Given the description of an element on the screen output the (x, y) to click on. 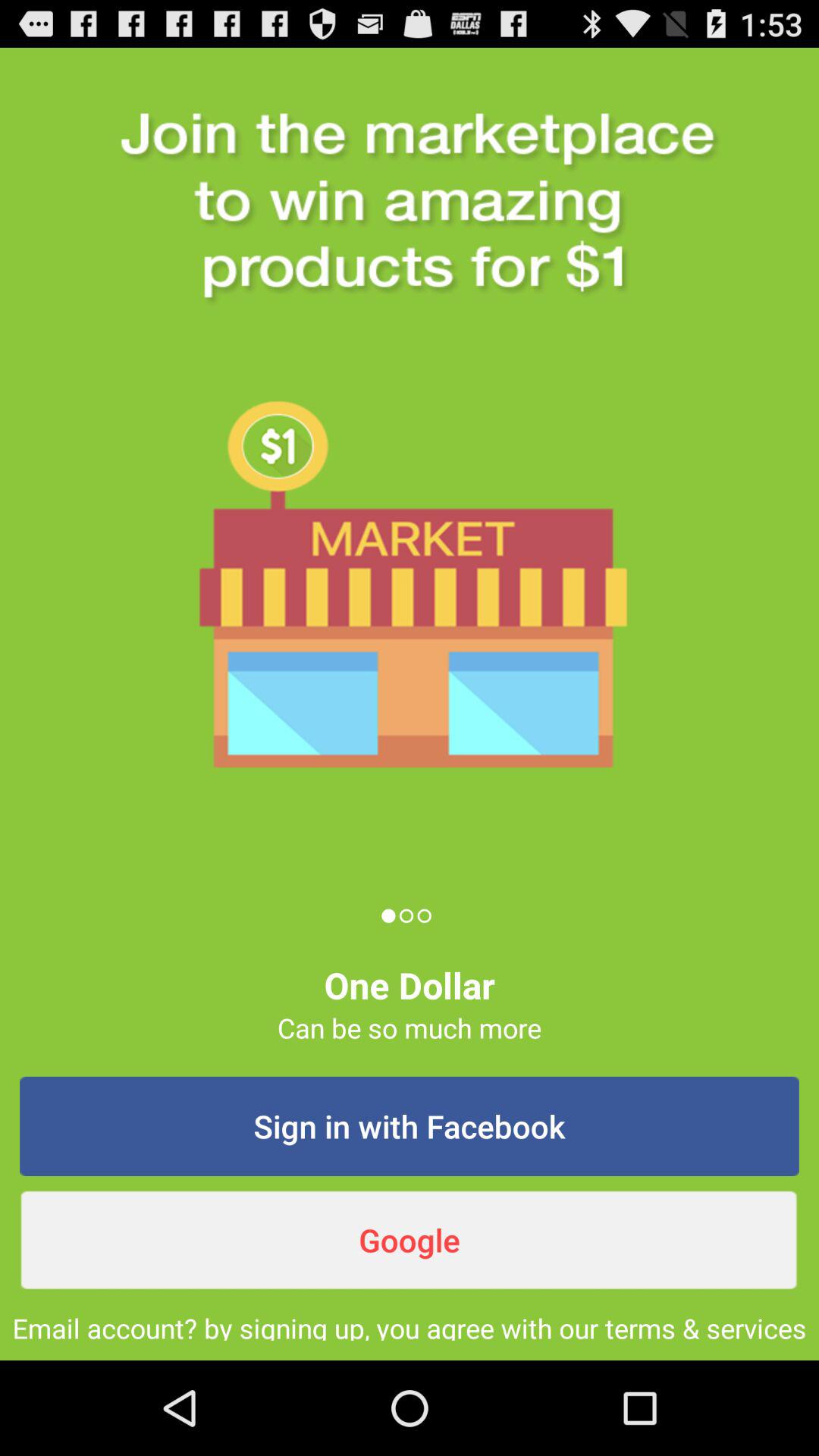
press item above the email account by app (409, 1239)
